Given the description of an element on the screen output the (x, y) to click on. 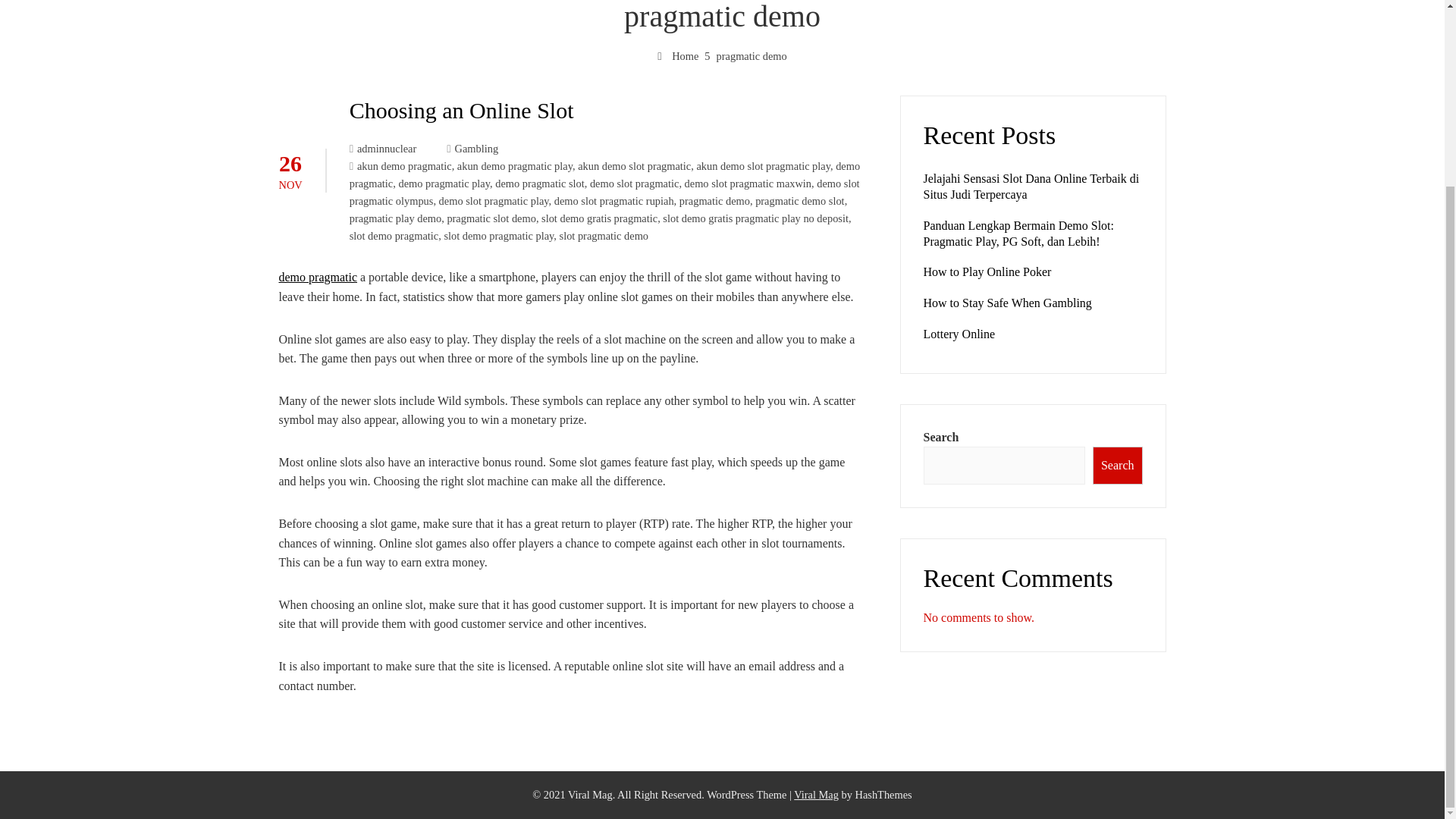
demo slot pragmatic play (493, 200)
Gambling (476, 148)
demo slot pragmatic rupiah (614, 200)
pragmatic play demo (395, 218)
slot demo pragmatic play (498, 235)
akun demo slot pragmatic play (762, 165)
Choosing an Online Slot (461, 109)
pragmatic demo (714, 200)
slot demo gratis pragmatic play no deposit (755, 218)
akun demo pragmatic (403, 165)
Download Viral News (815, 794)
demo pragmatic play (443, 183)
akun demo pragmatic play (514, 165)
slot demo pragmatic (394, 235)
demo slot pragmatic olympus (604, 192)
